Given the description of an element on the screen output the (x, y) to click on. 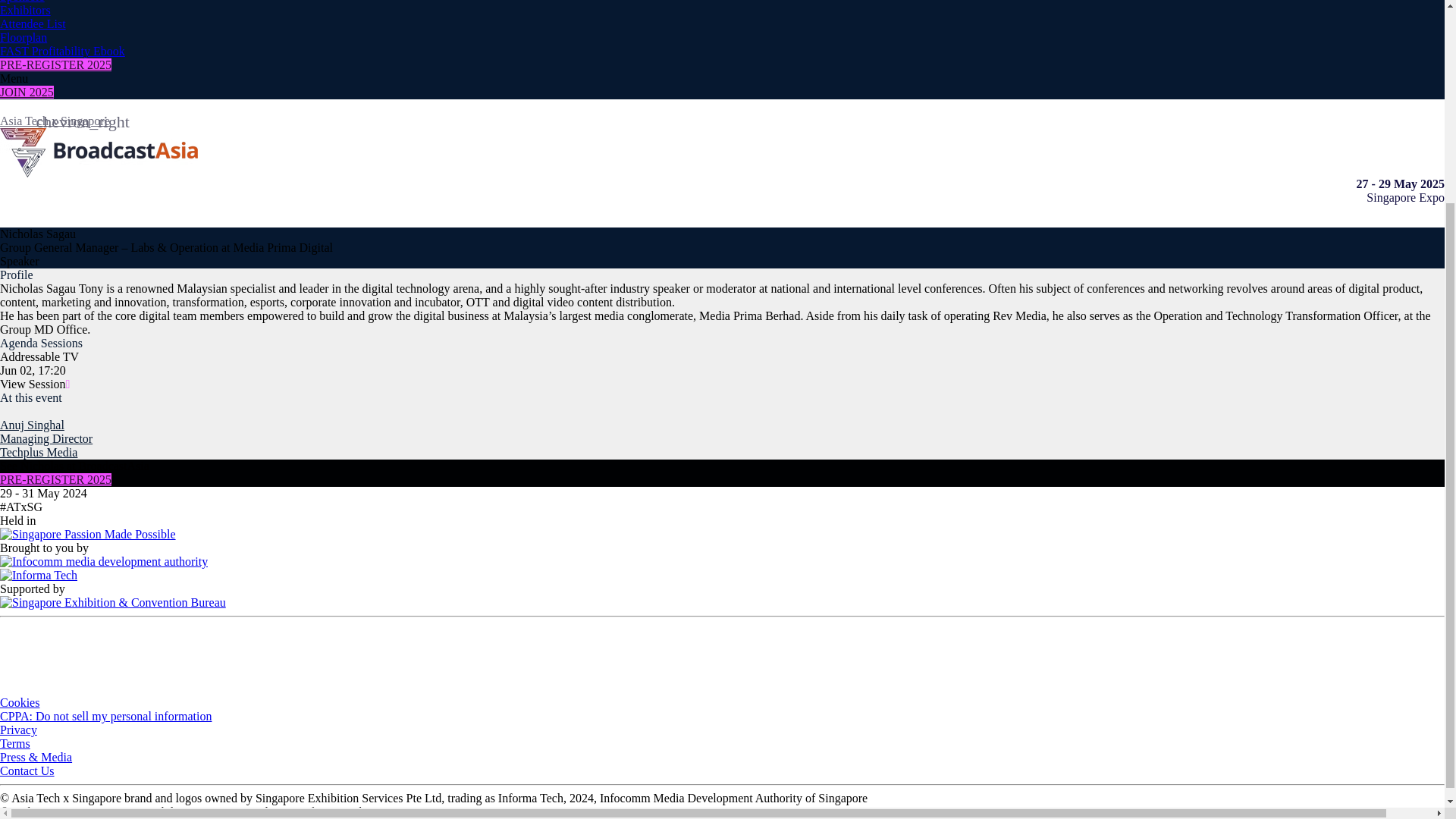
Sponsors (22, 1)
Attendee List (32, 23)
JOIN 2025 (26, 91)
PRE-REGISTER 2025 (56, 64)
Floorplan (23, 37)
Exhibitors (25, 10)
Asia Tech x Singapore (55, 120)
FAST Profitability Ebook (62, 51)
